Given the description of an element on the screen output the (x, y) to click on. 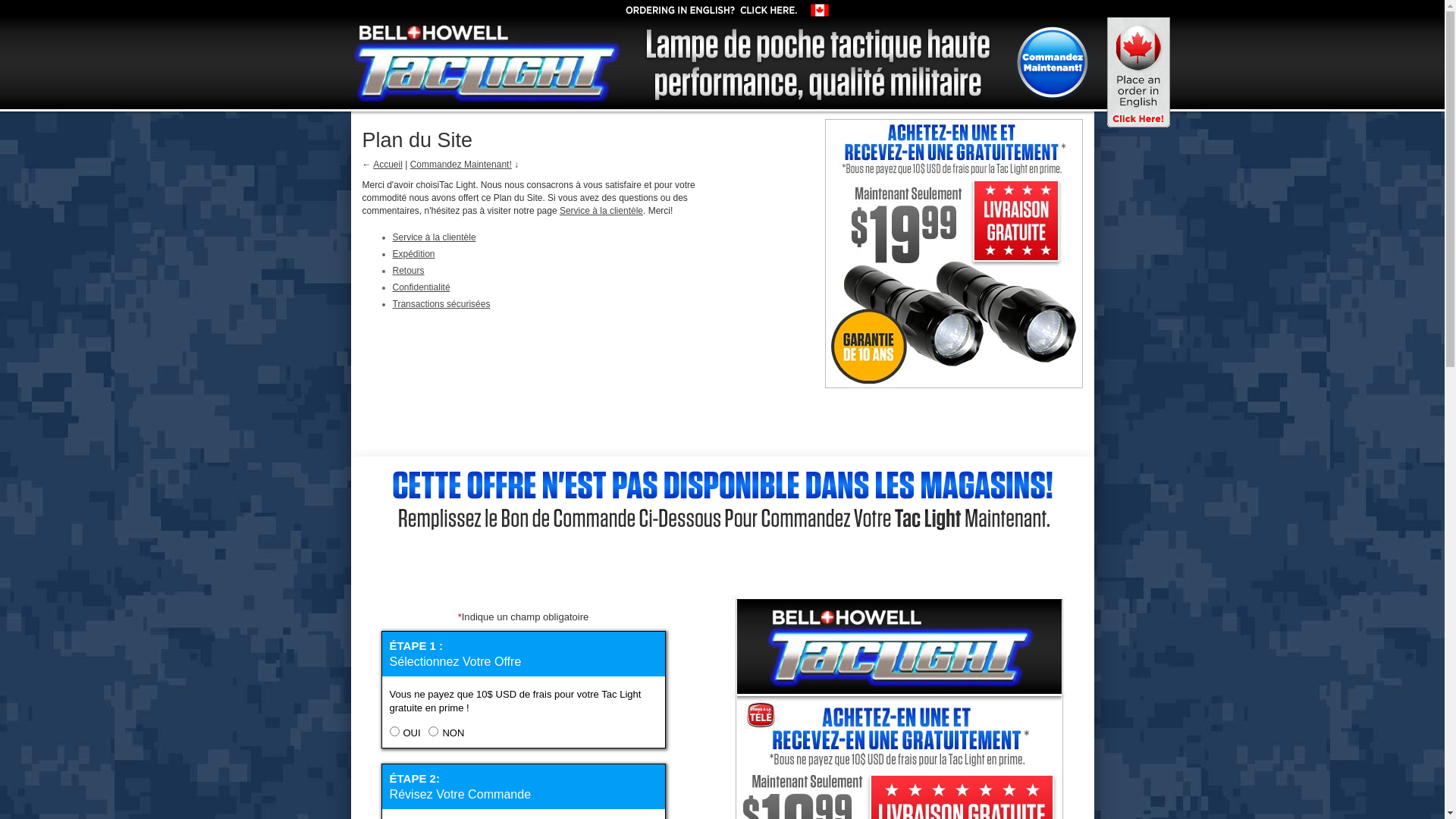
Commandez Maintenant! Element type: text (952, 410)
Accueil Element type: text (387, 164)
Commandez Maintenant! Element type: text (1054, 64)
Commandez Maintenant! Element type: text (460, 164)
Retours Element type: text (408, 270)
